Given the description of an element on the screen output the (x, y) to click on. 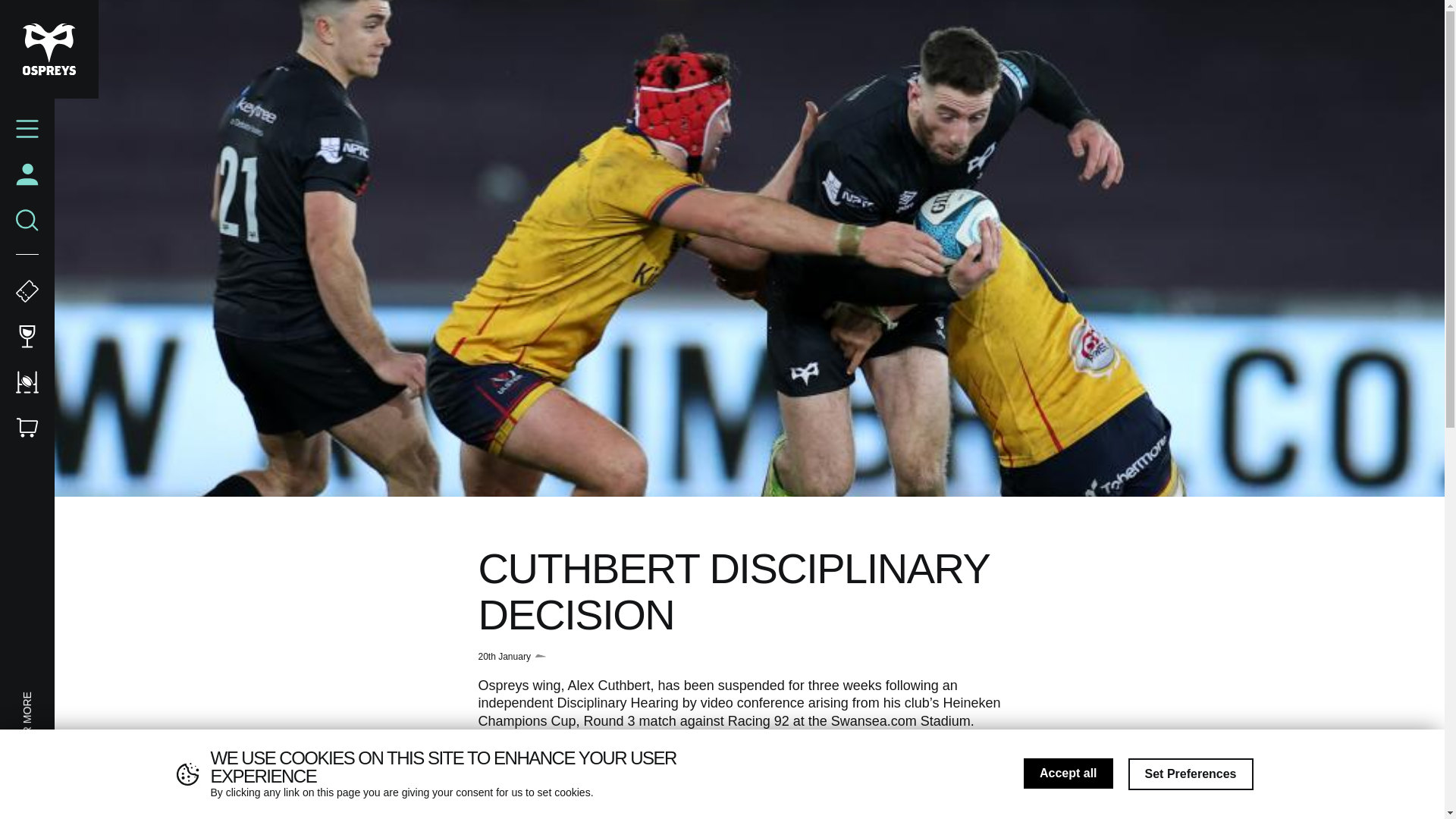
SCROLL FOR MORE (71, 699)
Search (27, 219)
Menu Closed (27, 128)
Search (27, 219)
Menu Closed (27, 128)
